Given the description of an element on the screen output the (x, y) to click on. 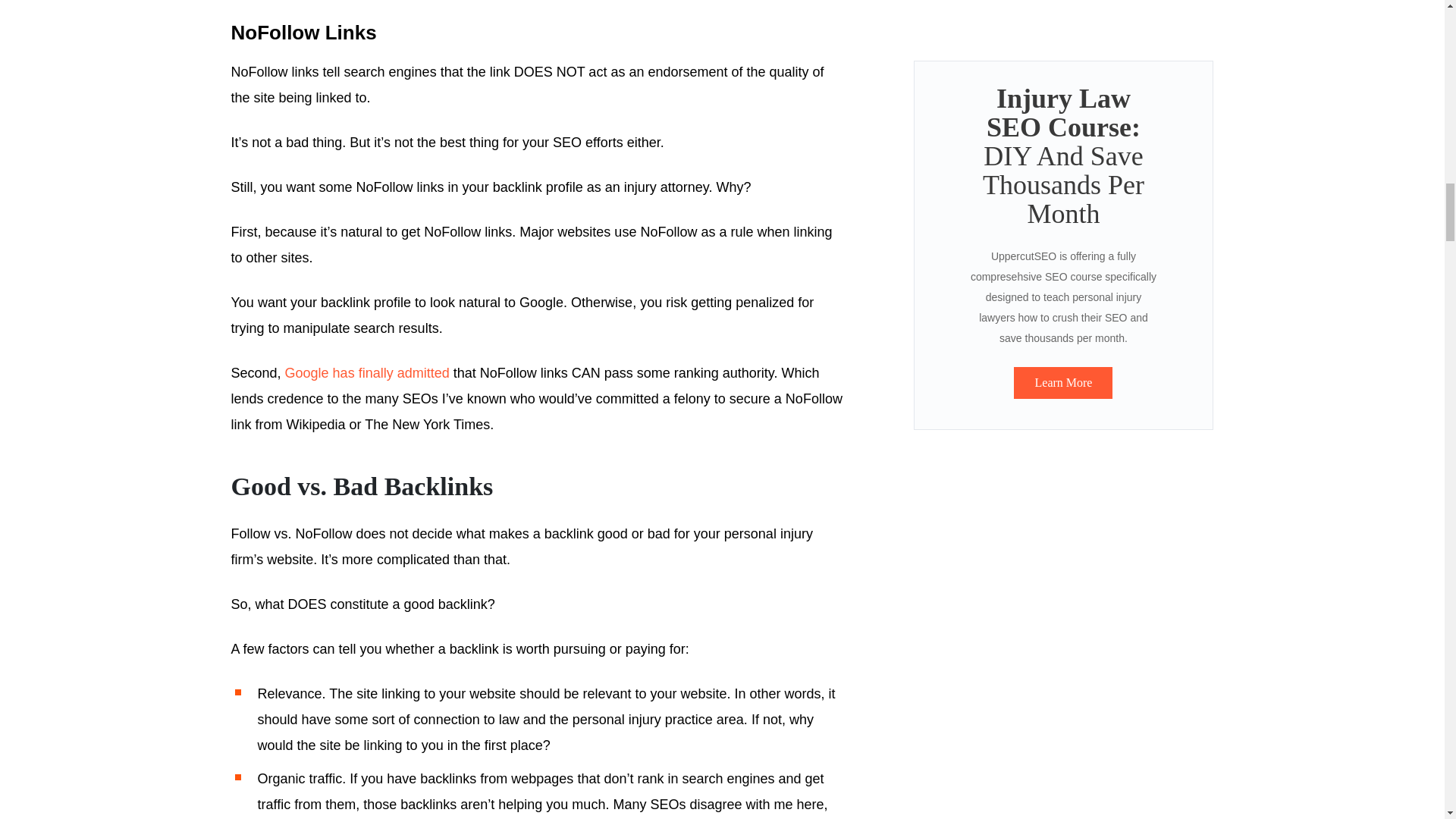
Google has finally admitted (367, 372)
